Given the description of an element on the screen output the (x, y) to click on. 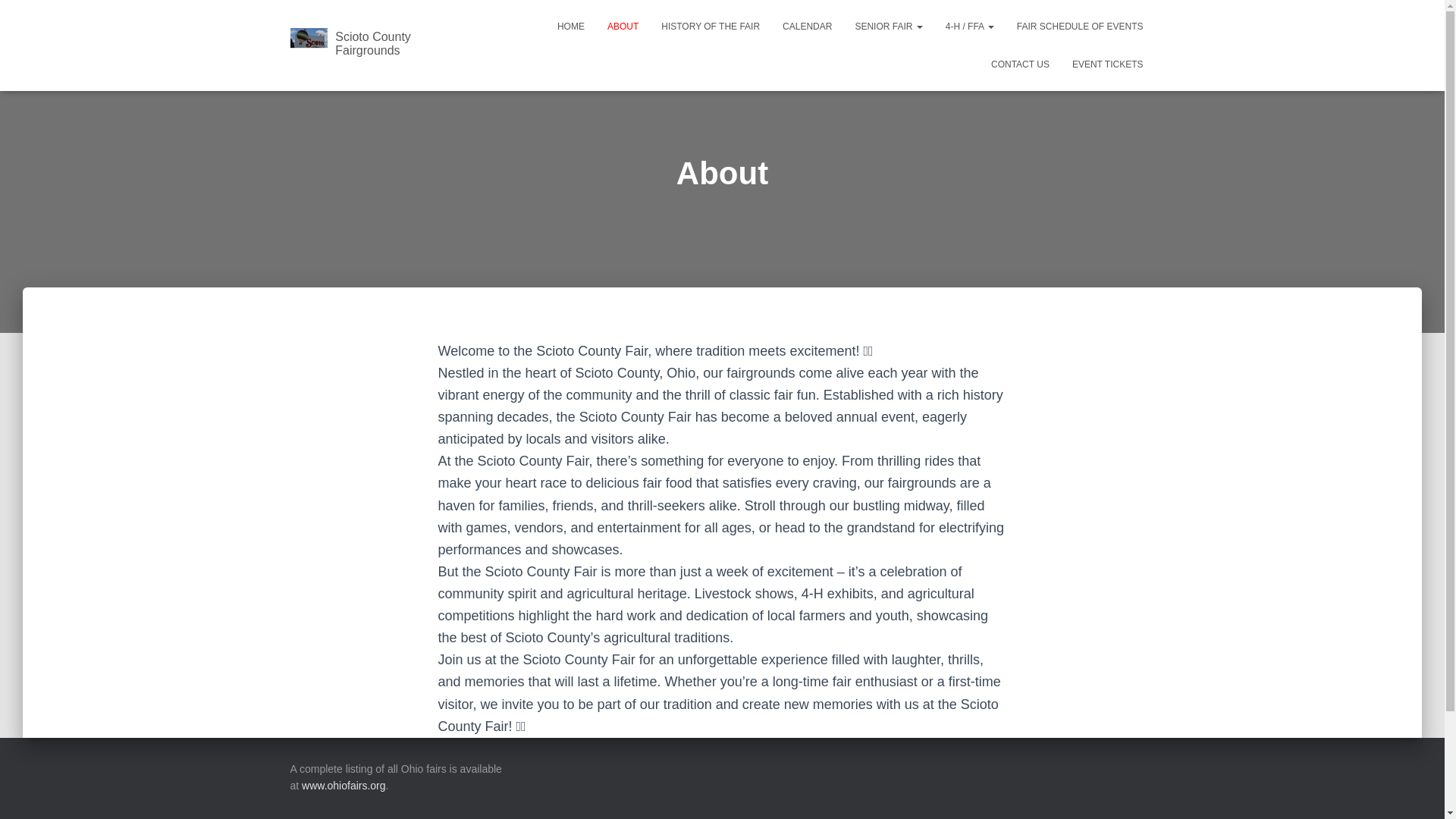
About (622, 26)
Home (570, 26)
Scioto County Fairgrounds (379, 45)
CONTACT US (1020, 64)
CALENDAR (807, 26)
Calendar (807, 26)
HOME (570, 26)
HISTORY OF THE FAIR (710, 26)
History of The Fair (710, 26)
Senior Fair (888, 26)
